Given the description of an element on the screen output the (x, y) to click on. 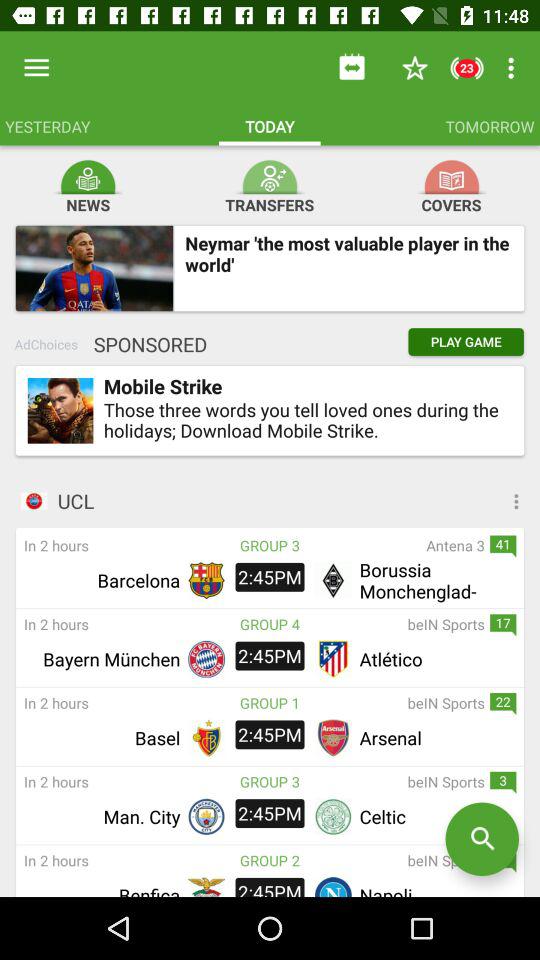
start a new search (482, 839)
